Given the description of an element on the screen output the (x, y) to click on. 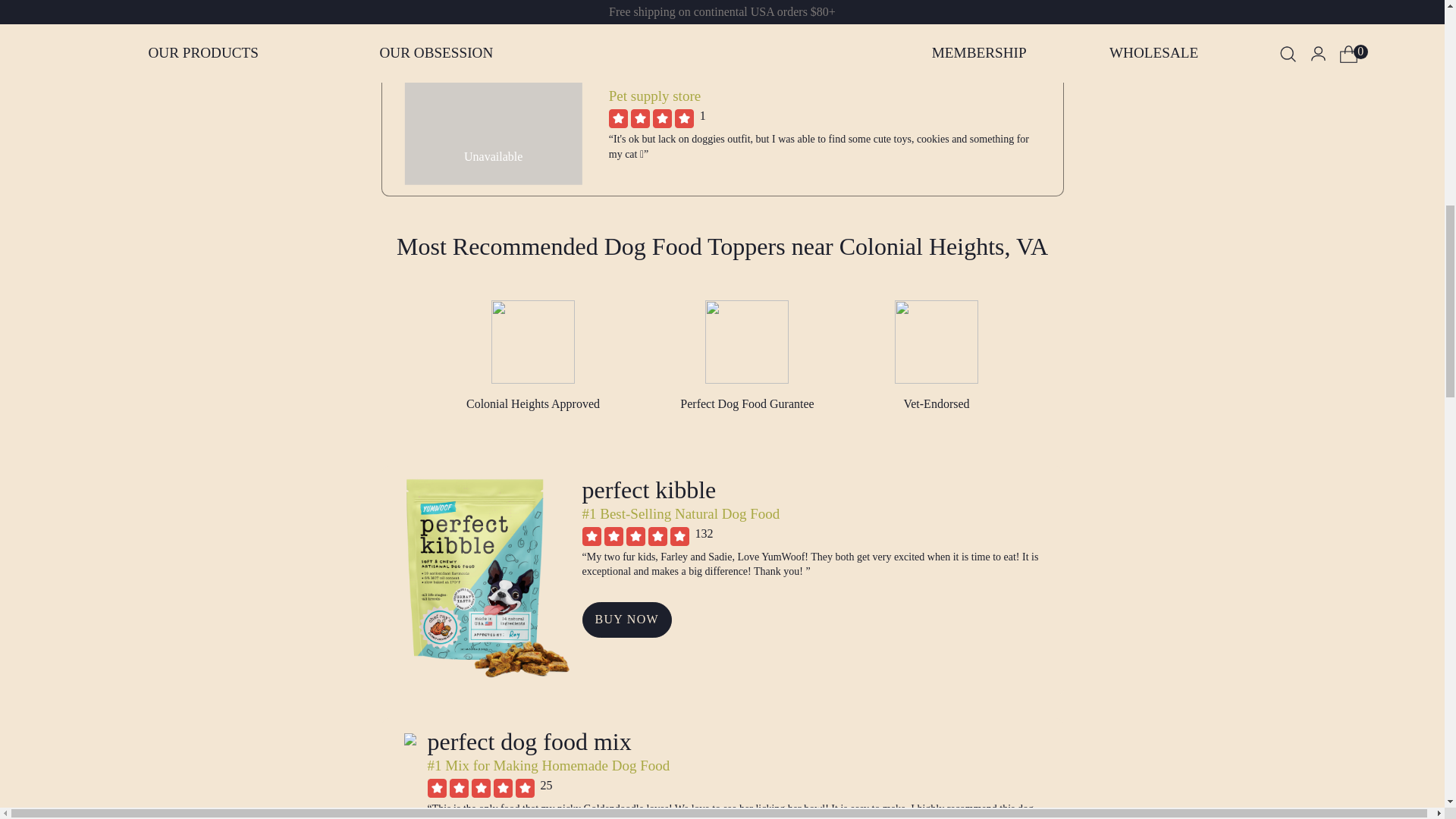
BUY NOW (626, 619)
